Given the description of an element on the screen output the (x, y) to click on. 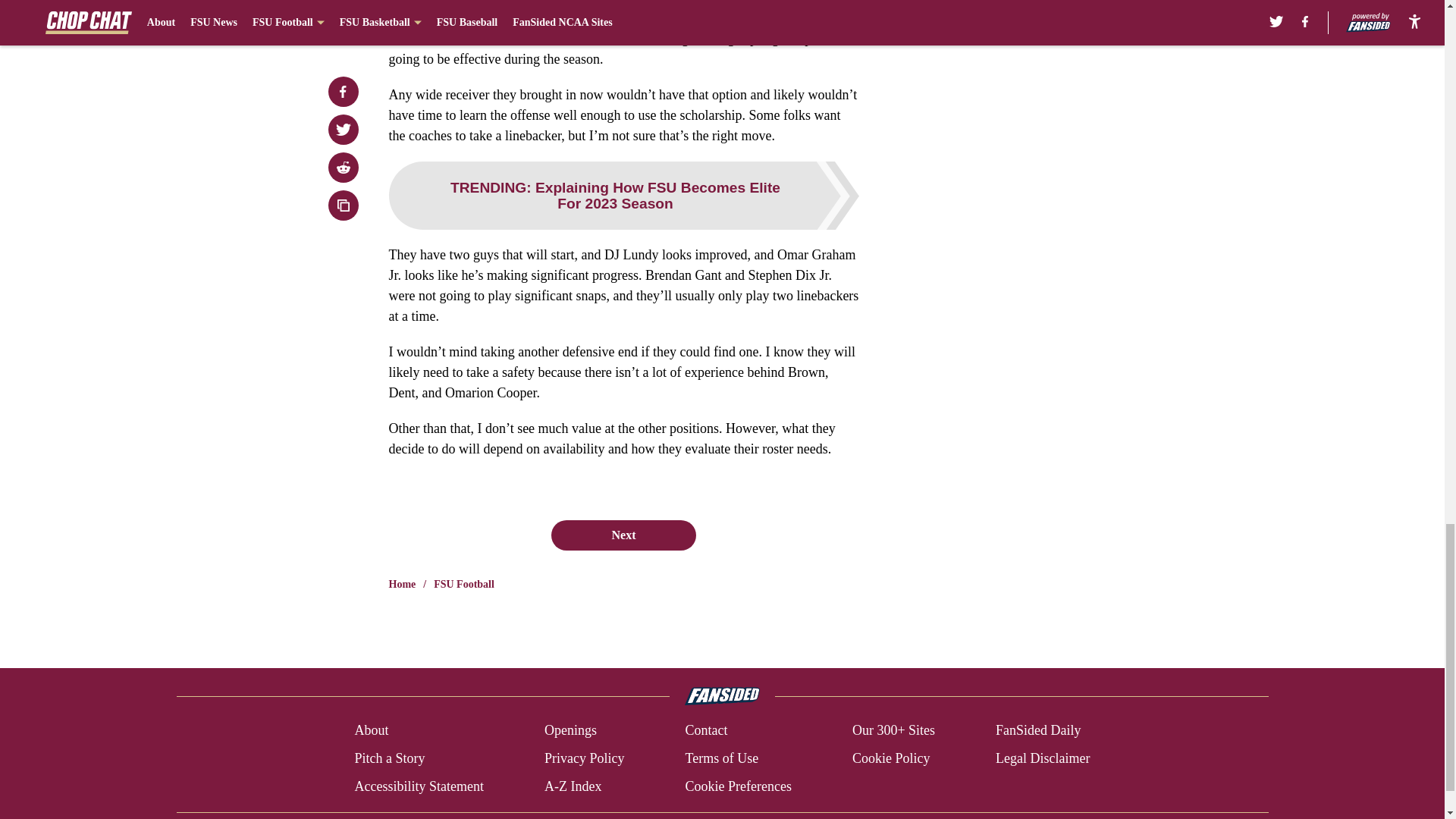
Contact (705, 730)
Home (401, 584)
FanSided Daily (1038, 730)
Pitch a Story (389, 758)
Next (622, 535)
TRENDING: Explaining How FSU Becomes Elite For 2023 Season (623, 195)
Openings (570, 730)
Privacy Policy (584, 758)
About (370, 730)
FSU Football (464, 584)
